Given the description of an element on the screen output the (x, y) to click on. 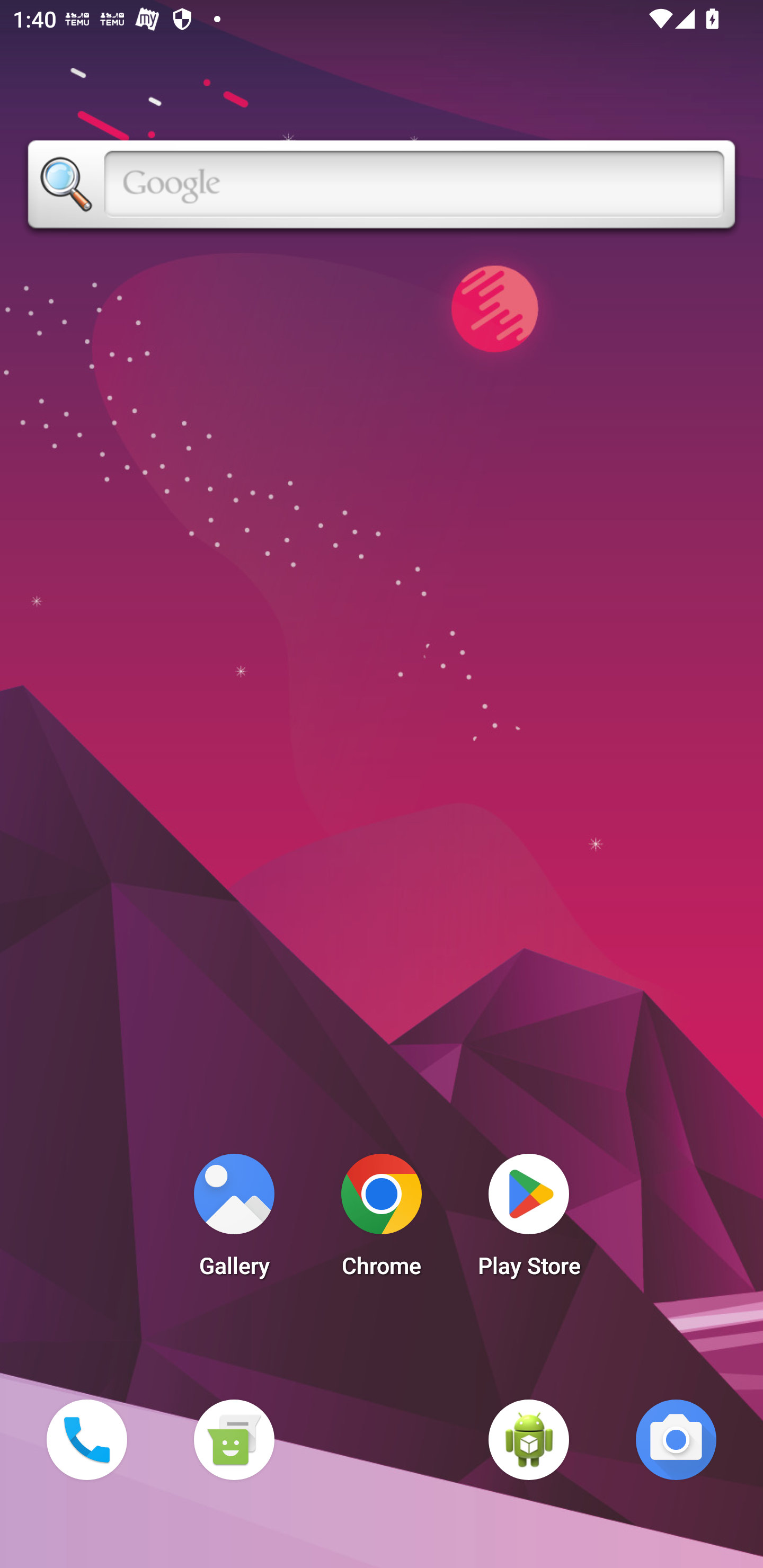
Gallery (233, 1220)
Chrome (381, 1220)
Play Store (528, 1220)
Phone (86, 1439)
Messaging (233, 1439)
WebView Browser Tester (528, 1439)
Camera (676, 1439)
